Given the description of an element on the screen output the (x, y) to click on. 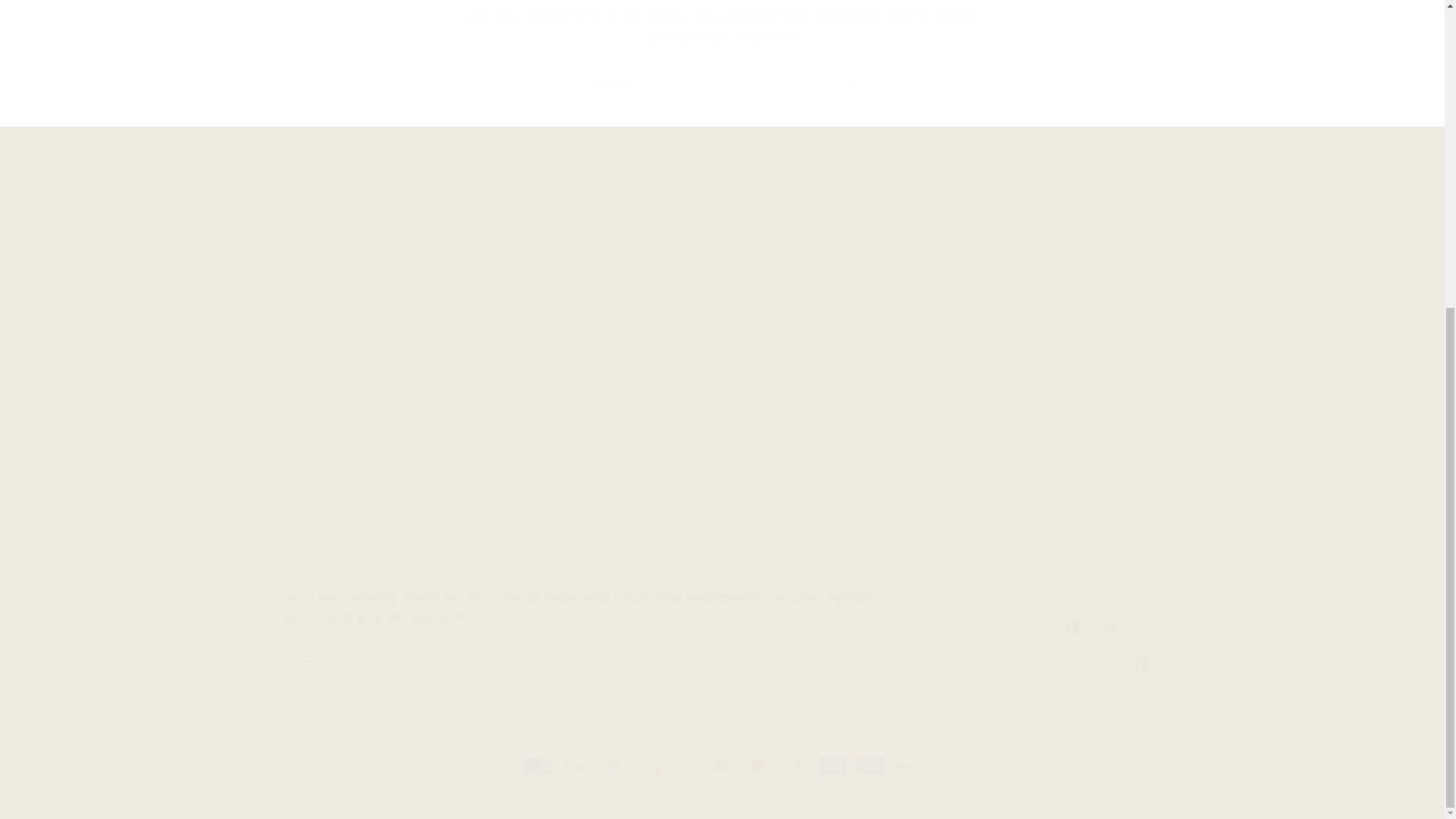
Email (722, 84)
tel:01455630360 (806, 359)
